Given the description of an element on the screen output the (x, y) to click on. 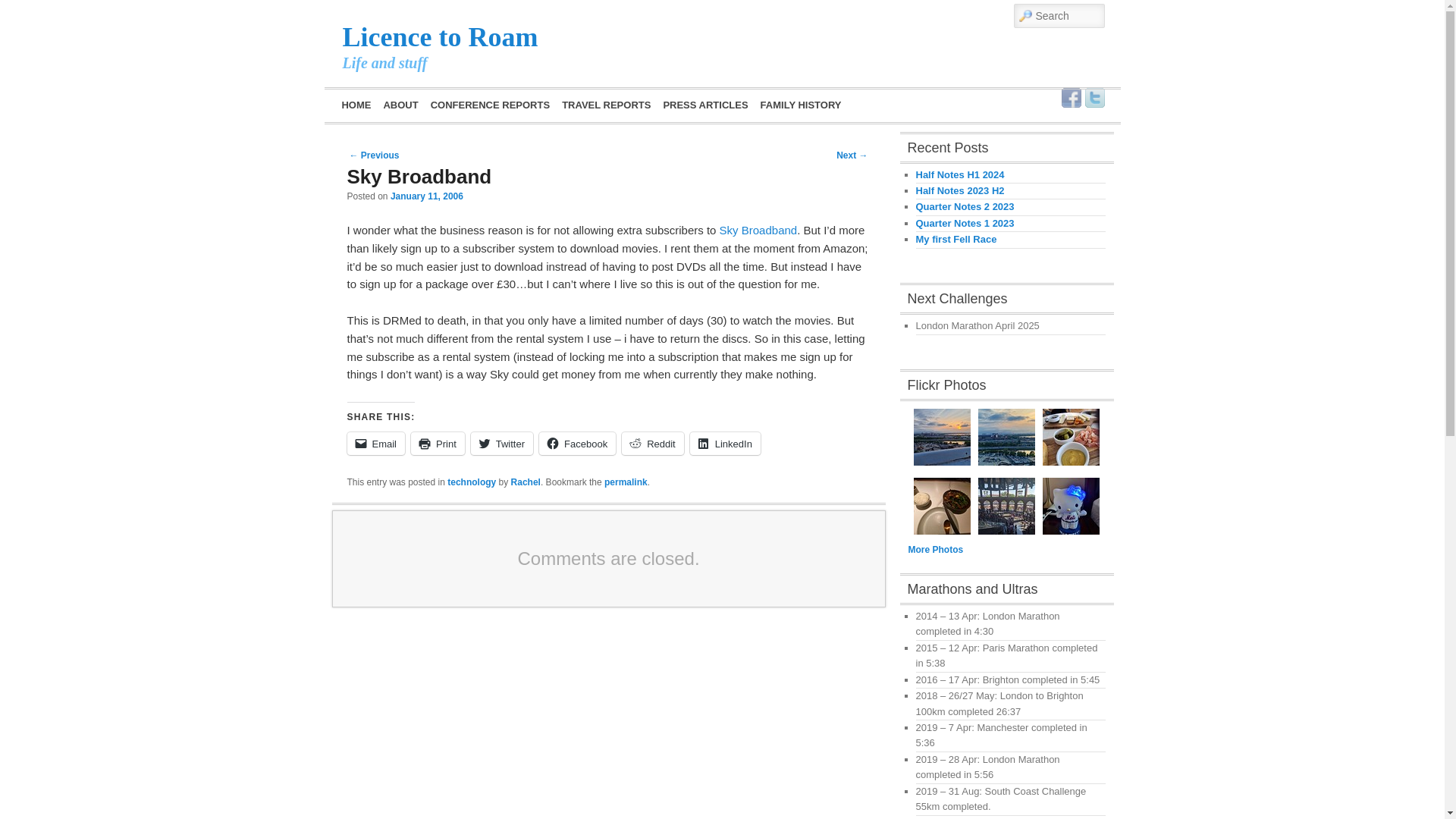
My first Fell Race (956, 238)
Skip to primary content (420, 103)
January 11, 2006 (426, 195)
Search (24, 8)
LinkedIn (725, 443)
Quarter Notes 2 2023 (964, 206)
Click to share on Facebook (576, 443)
Permalink to Sky Broadband (625, 481)
Half Notes 2023 H2 (959, 190)
US Baseball Trip, May 2024 (1006, 437)
